Given the description of an element on the screen output the (x, y) to click on. 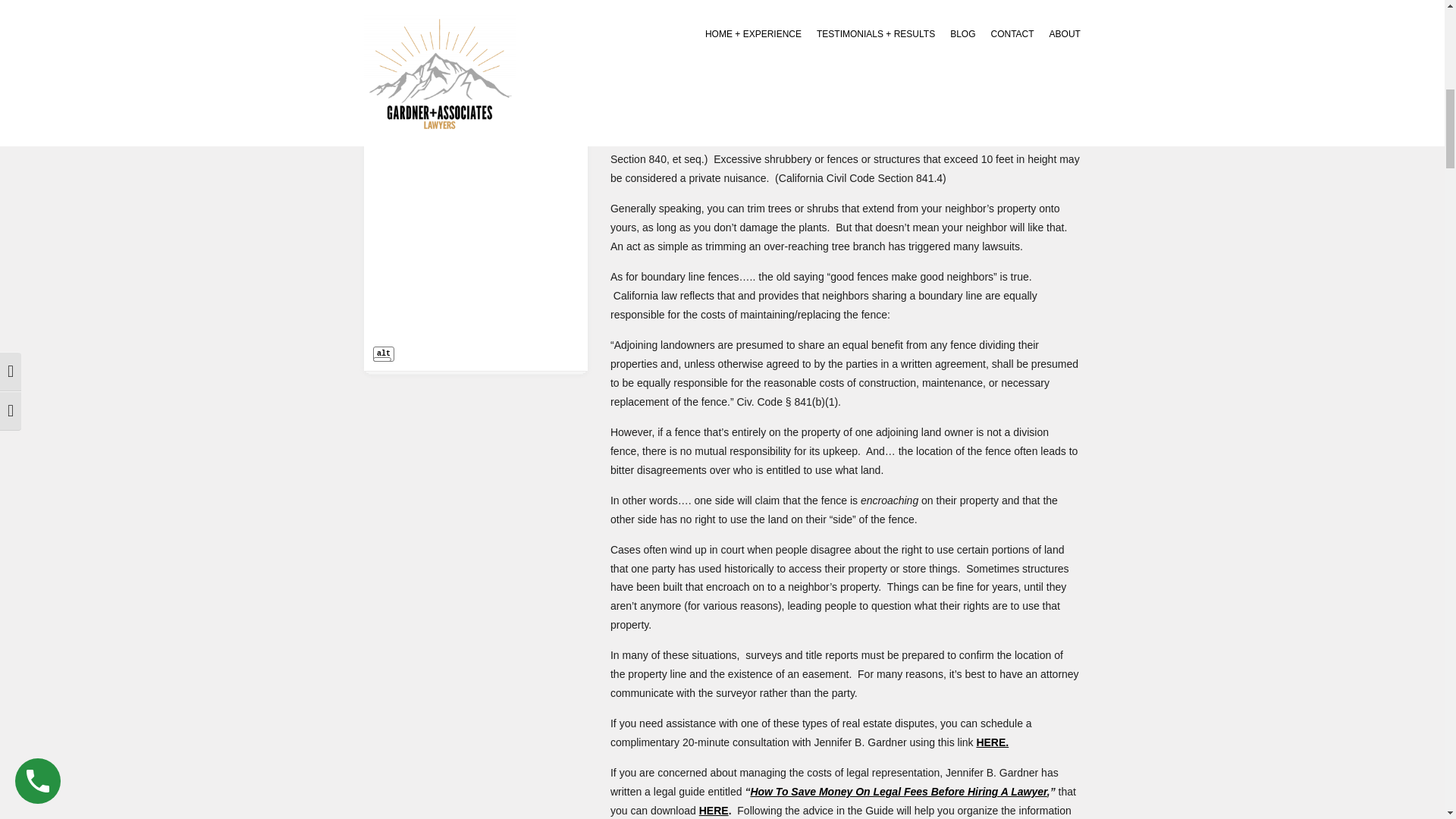
Long Description (381, 359)
HERE. (992, 742)
alt (383, 353)
How To Save Money On Legal Fees Before Hiring A Lawyer (897, 791)
HERE (713, 810)
